Given the description of an element on the screen output the (x, y) to click on. 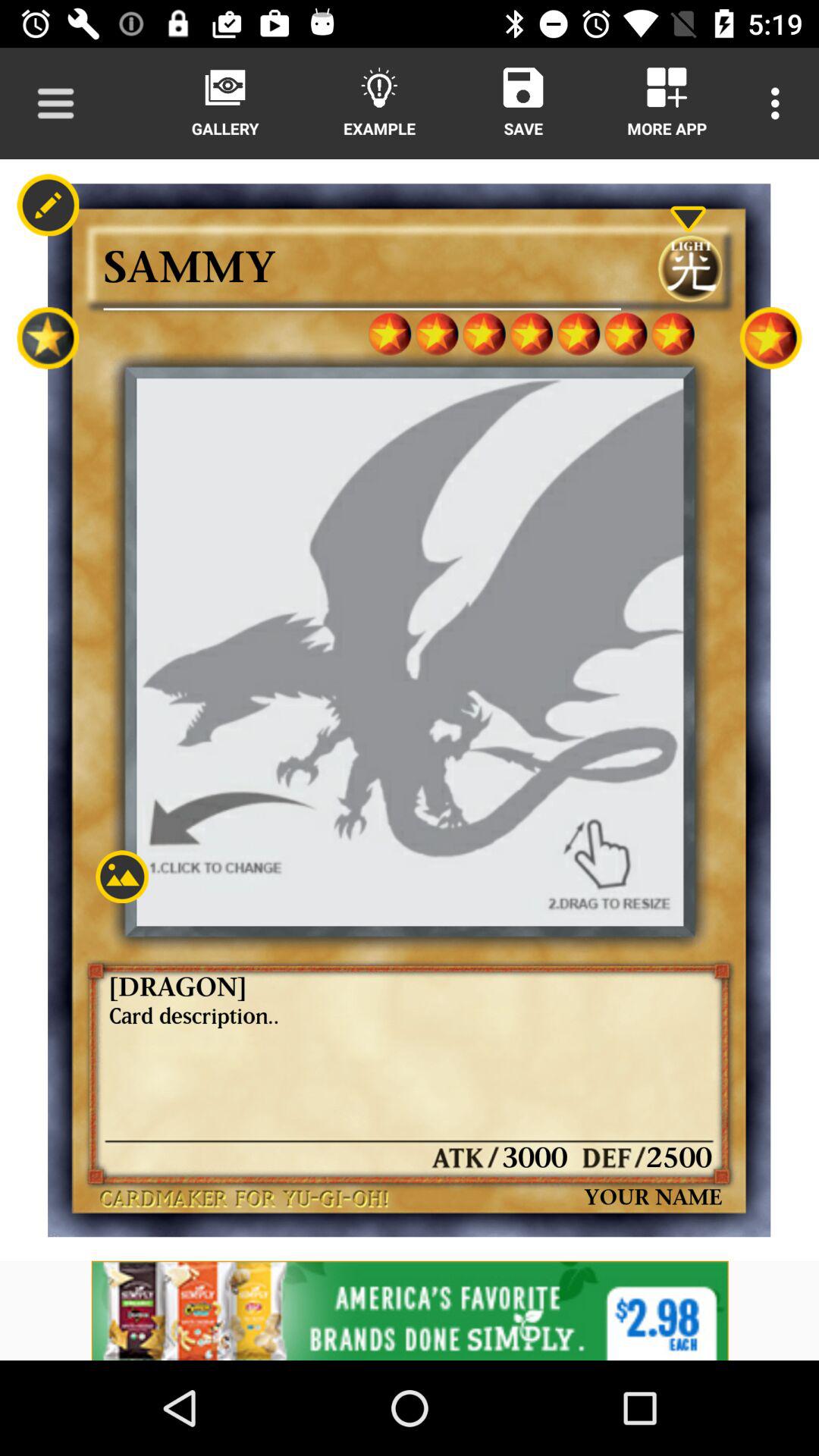
add of the option (409, 1310)
